Given the description of an element on the screen output the (x, y) to click on. 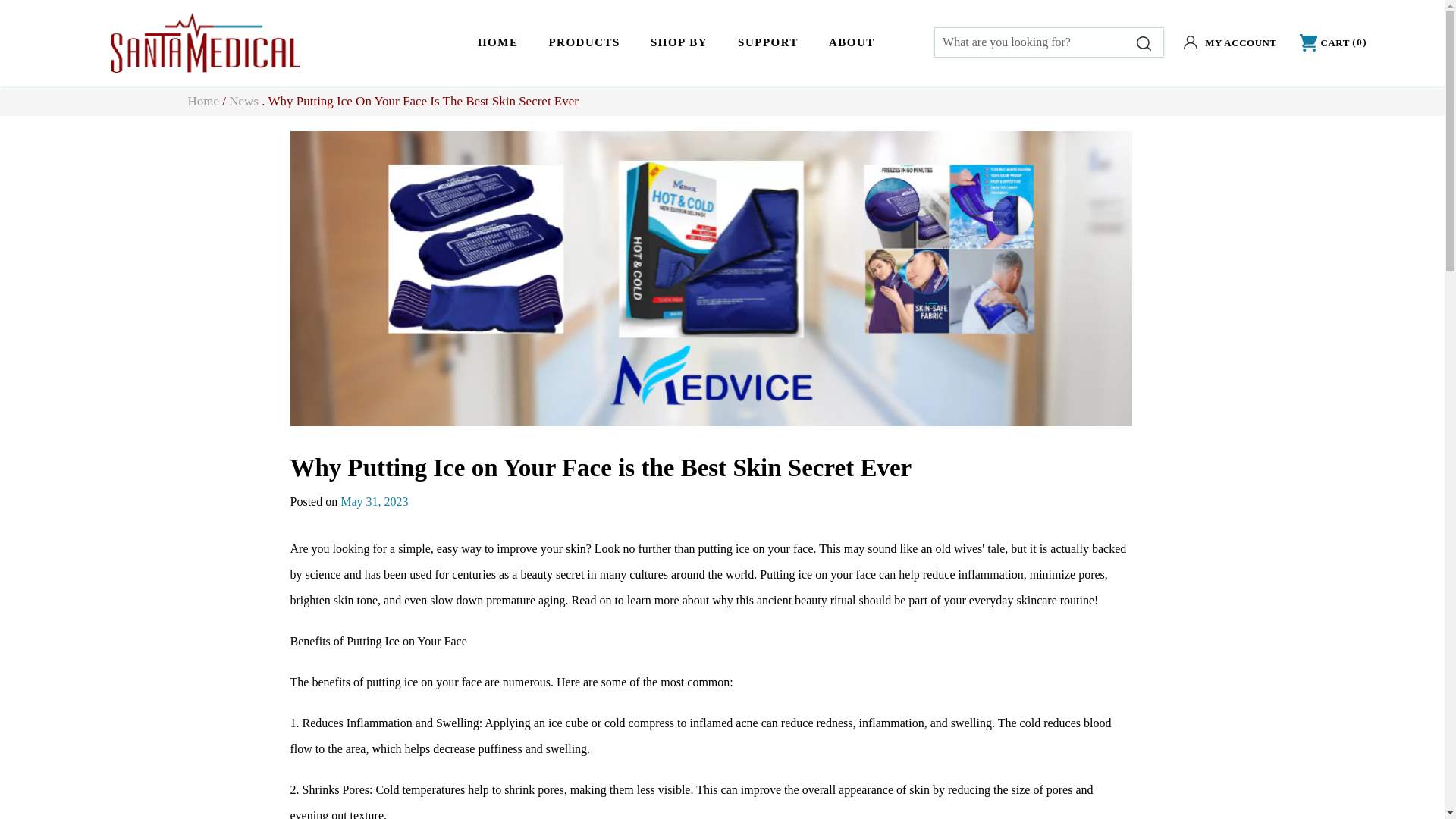
SHOP BY (678, 42)
HOME (498, 42)
Home (203, 101)
ABOUT (851, 42)
SUPPORT (767, 42)
PRODUCTS (583, 42)
MY ACCOUNT (1229, 42)
